Given the description of an element on the screen output the (x, y) to click on. 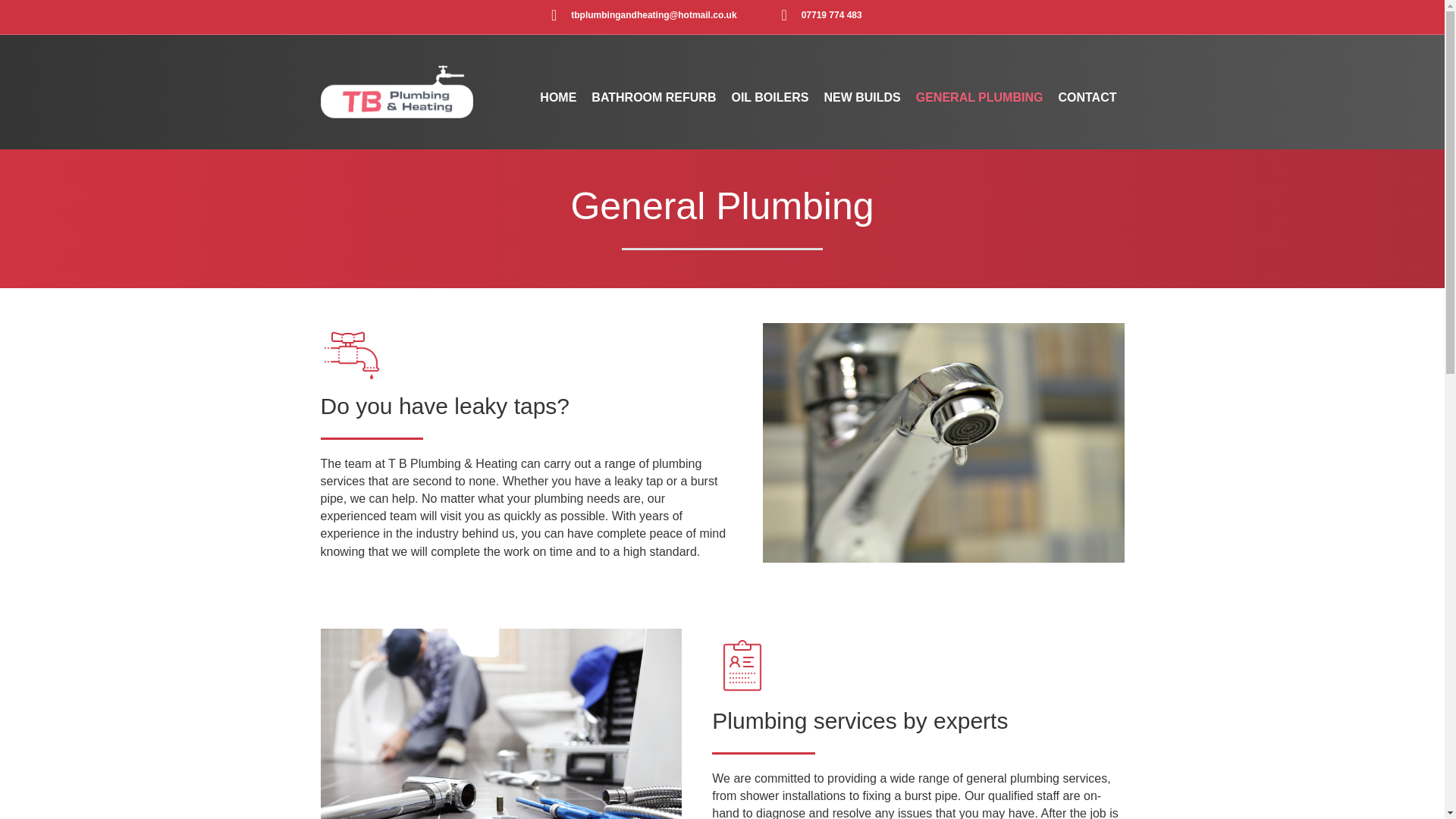
GENERAL PLUMBING (979, 97)
Logo (395, 91)
BATHROOM REFURB (653, 97)
HOME (557, 97)
NEW BUILDS (861, 97)
OIL BOILERS (769, 97)
07719 774 483 (817, 14)
Bathroom tap leaking water drops (943, 442)
CONTACT (1086, 97)
